Given the description of an element on the screen output the (x, y) to click on. 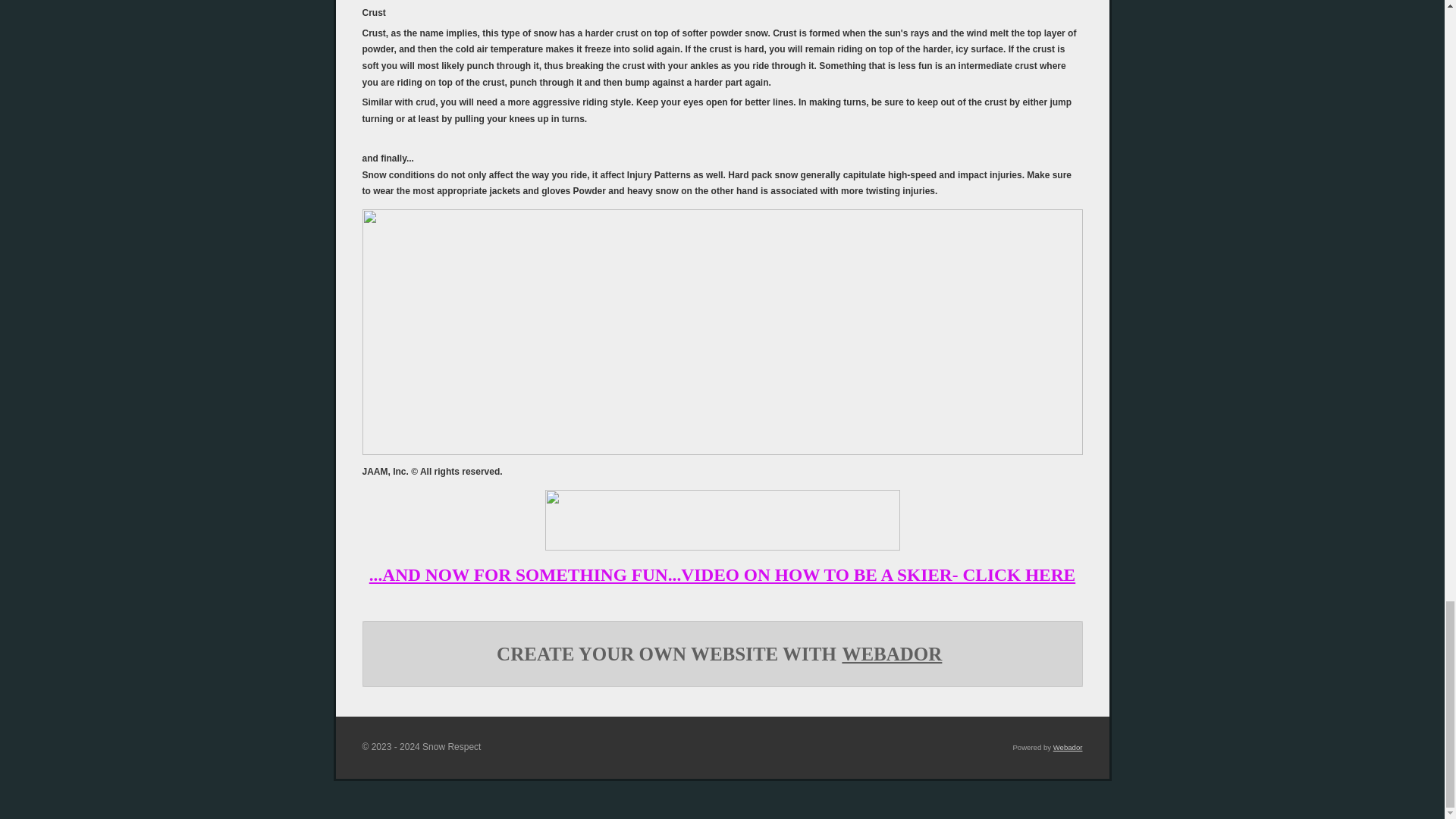
WEBADOR (891, 653)
Webador (1067, 746)
